Given the description of an element on the screen output the (x, y) to click on. 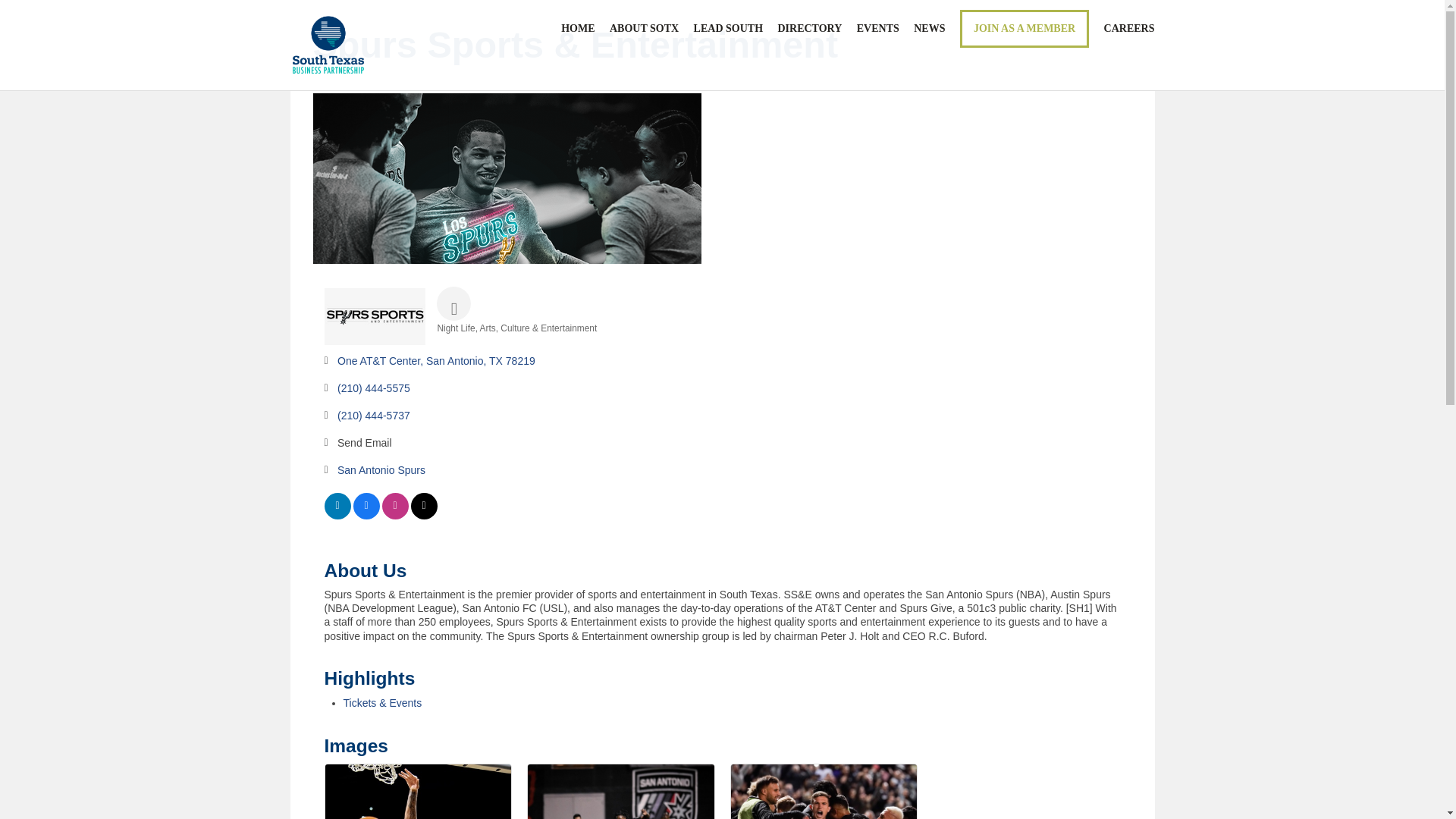
ABOUT SOTX (644, 28)
View on LinkedIn (337, 515)
Send Email (364, 442)
EVENTS (878, 28)
Gallery Image Spurs2.jpg (417, 791)
View on Twitter (424, 515)
NEWS (929, 28)
HOME (577, 28)
San Antonio Spurs (381, 470)
DIRECTORY (809, 28)
JOIN AS A MEMBER (1024, 28)
LEAD SOUTH (728, 28)
View on Instagram (395, 515)
CAREERS (1128, 28)
View on Facebook (366, 515)
